Given the description of an element on the screen output the (x, y) to click on. 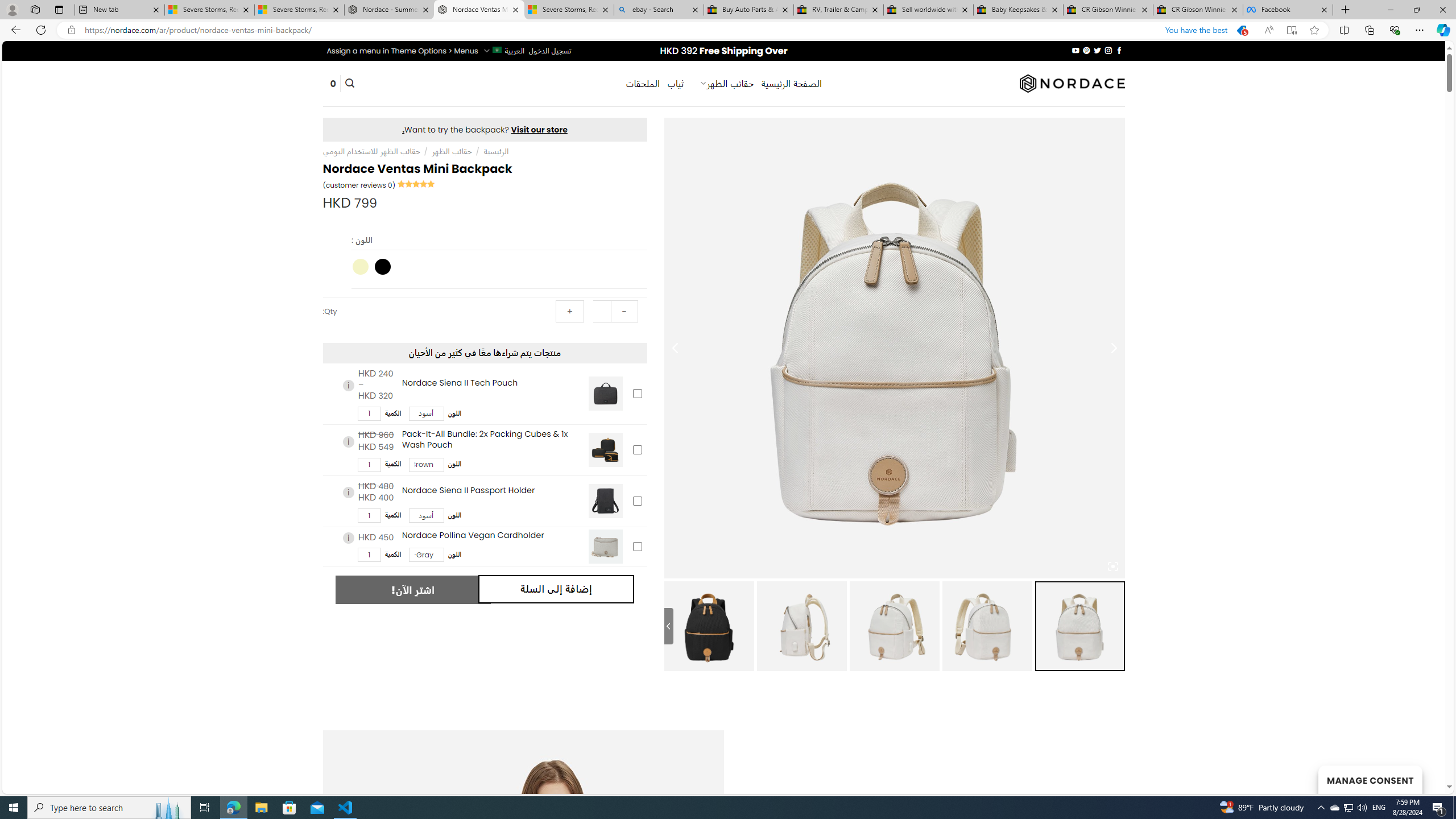
Nordace Ventas Mini Backpack (478, 9)
(0 customer reviews) (358, 184)
